Given the description of an element on the screen output the (x, y) to click on. 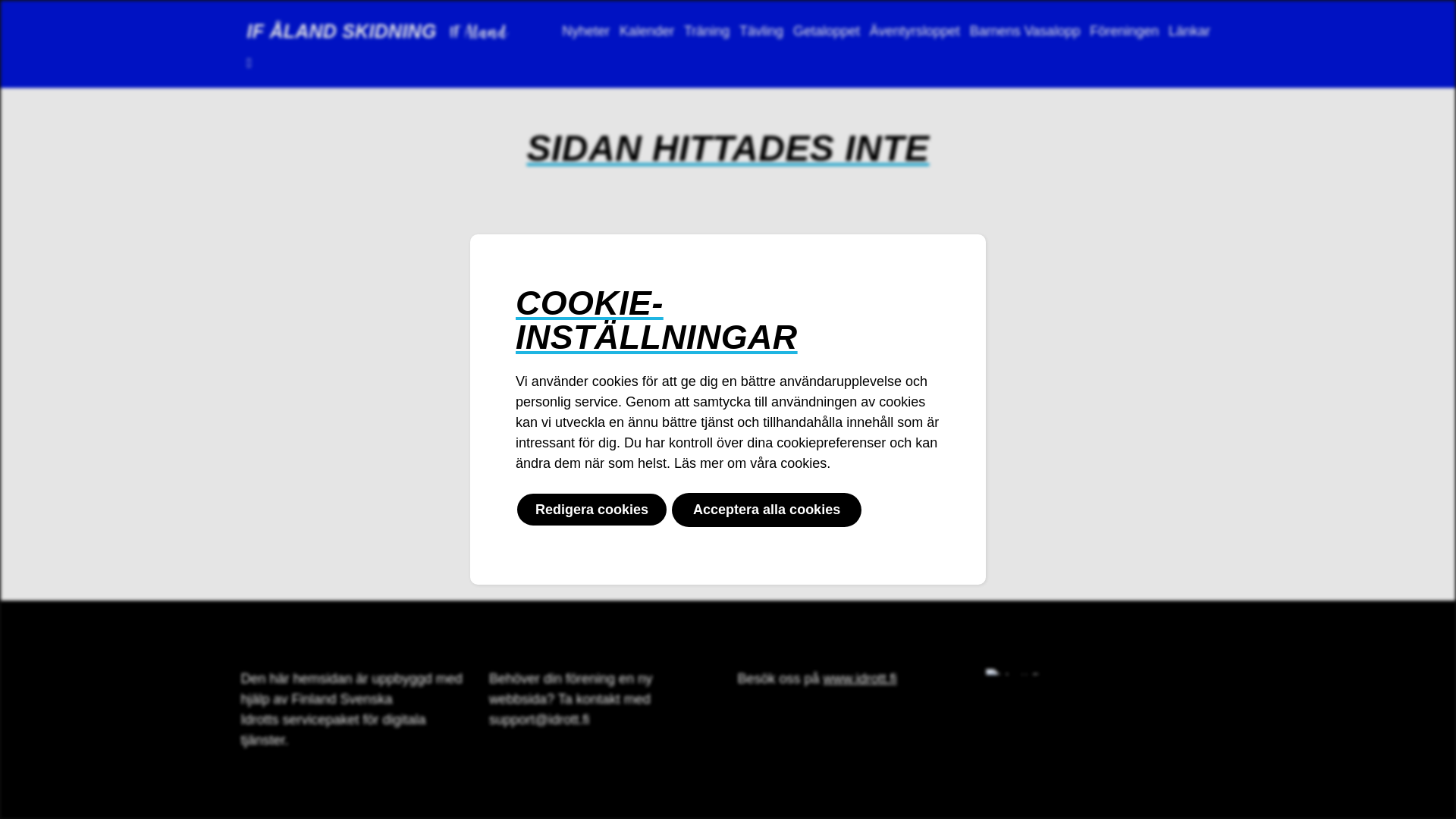
Nyheter Element type: text (586, 31)
www.idrott.fi Element type: text (860, 678)
Kalender Element type: text (647, 31)
Getaloppet Element type: text (826, 31)
Acceptera alla cookies Element type: text (766, 509)
Barnens Vasalopp Element type: text (1024, 31)
